Given the description of an element on the screen output the (x, y) to click on. 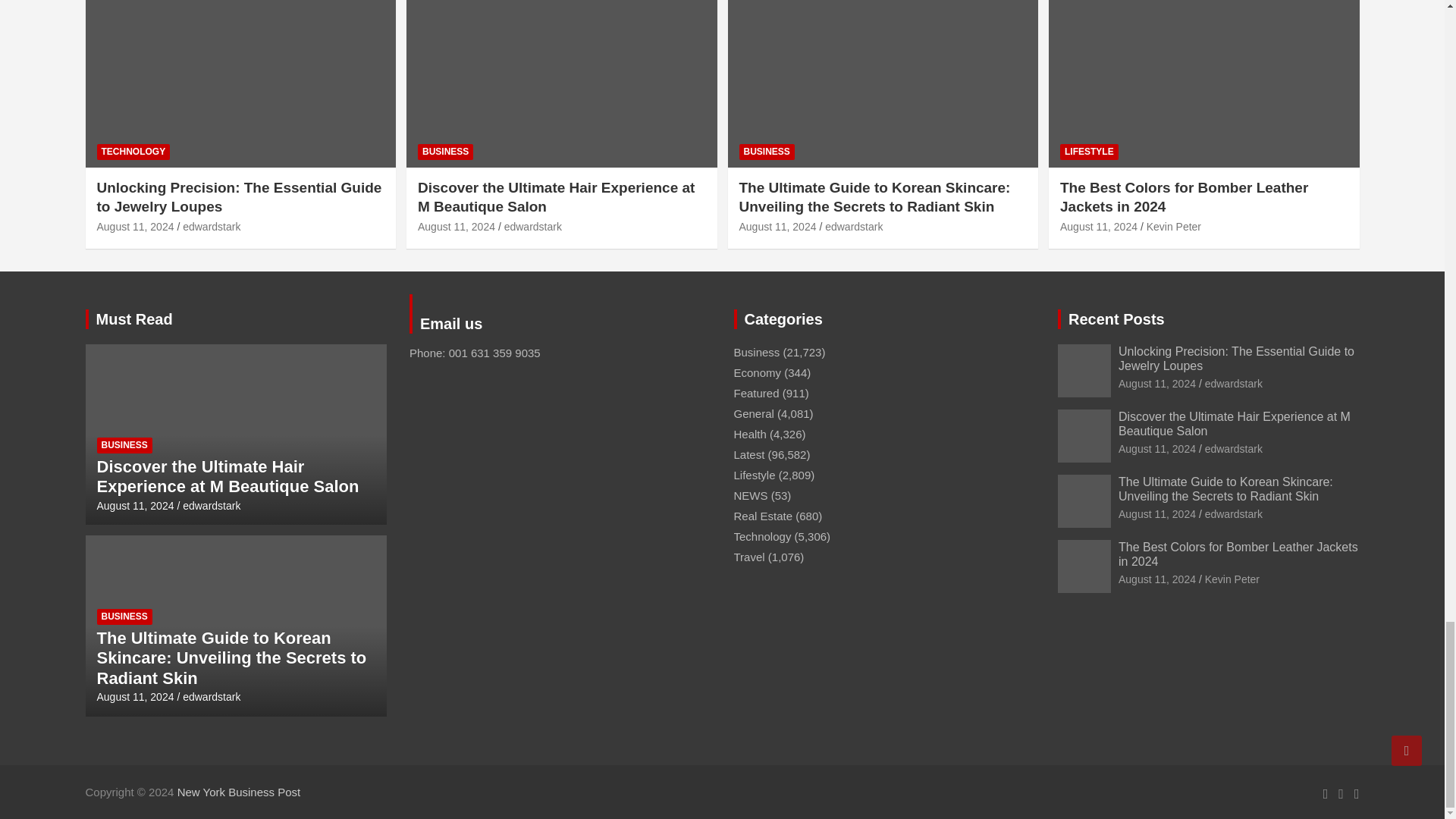
Discover the Ultimate Hair Experience at M Beautique Salon (456, 226)
Unlocking Precision: The Essential Guide to Jewelry Loupes (135, 226)
The Best Colors for Bomber Leather Jackets in 2024 (1098, 226)
Discover the Ultimate Hair Experience at M Beautique Salon (1156, 449)
Unlocking Precision: The Essential Guide to Jewelry Loupes (1156, 383)
Discover the Ultimate Hair Experience at M Beautique Salon (135, 505)
